Given the description of an element on the screen output the (x, y) to click on. 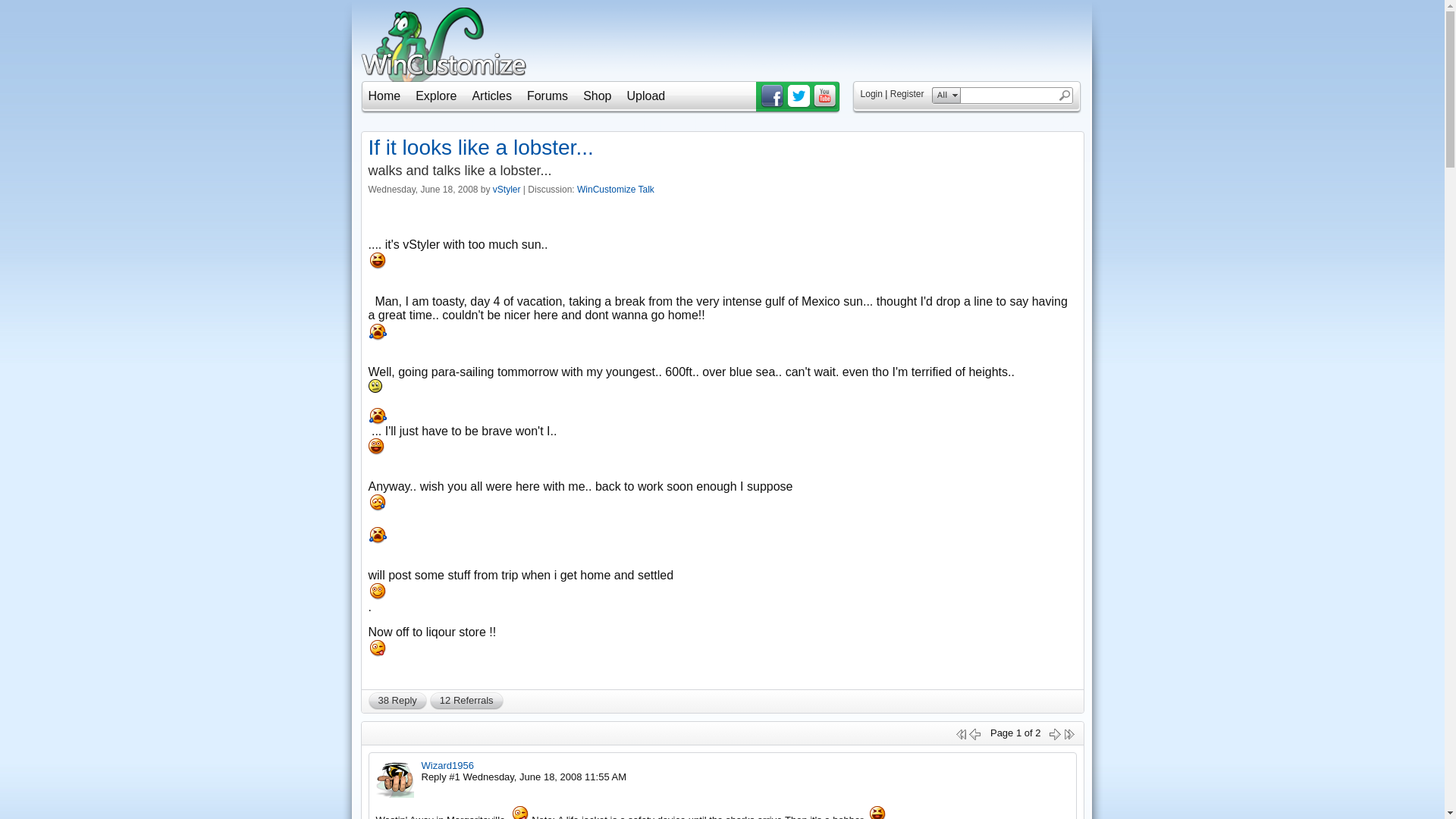
Referrals (466, 700)
Replies (397, 700)
